Given the description of an element on the screen output the (x, y) to click on. 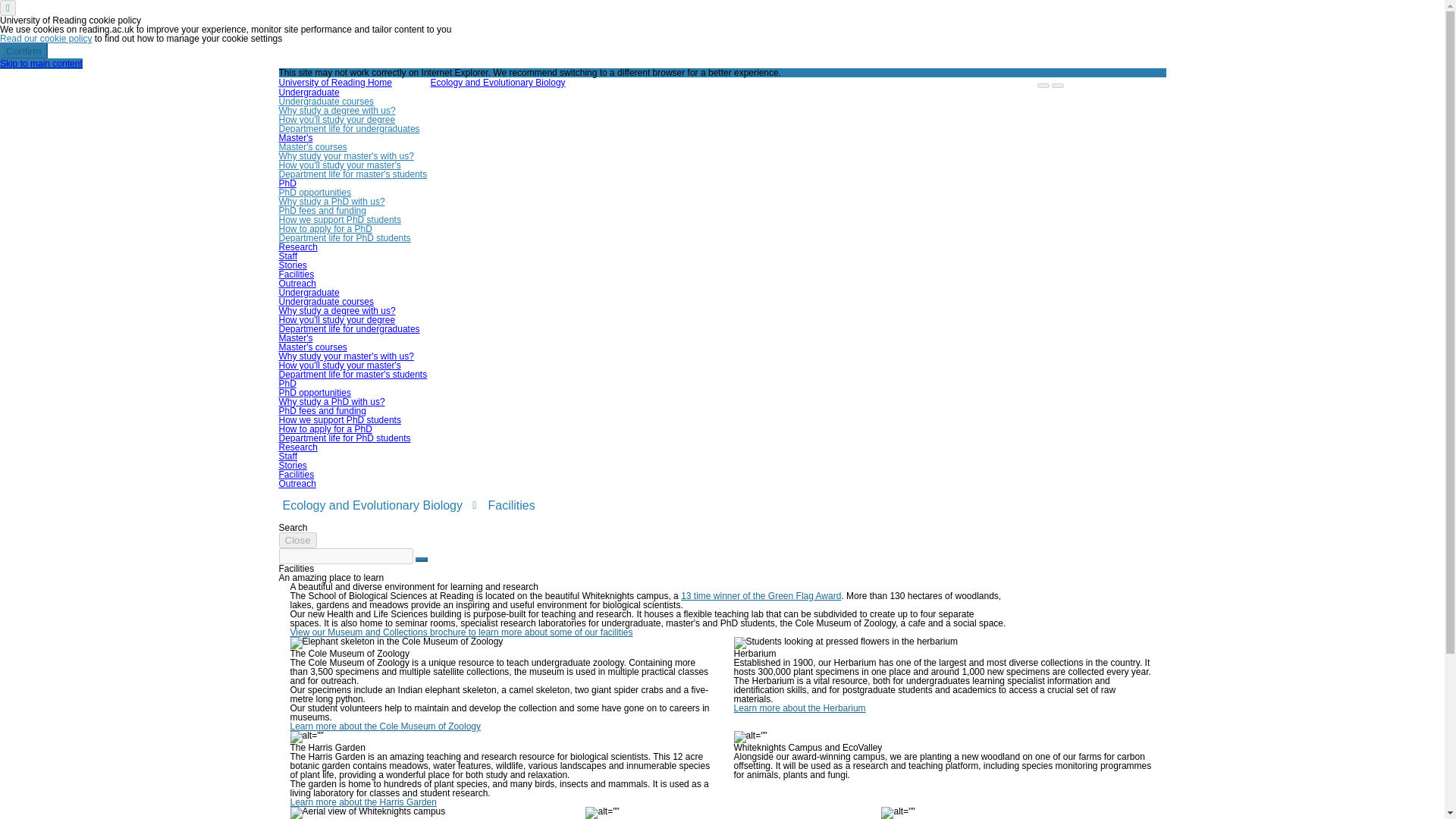
Master's (296, 337)
How we support PhD students (340, 219)
research (298, 246)
How you'll study your master's (340, 365)
PhD opportunities (314, 192)
Skip to main content (41, 63)
PhD (288, 183)
Why study a degree with us? (337, 110)
Department life for master's students (353, 374)
PhD fees and funding (322, 210)
staff (288, 255)
mobile nav (1042, 85)
How you'll study your master's (340, 164)
Department life for master's students (353, 173)
Department life for PhD students (344, 237)
